Given the description of an element on the screen output the (x, y) to click on. 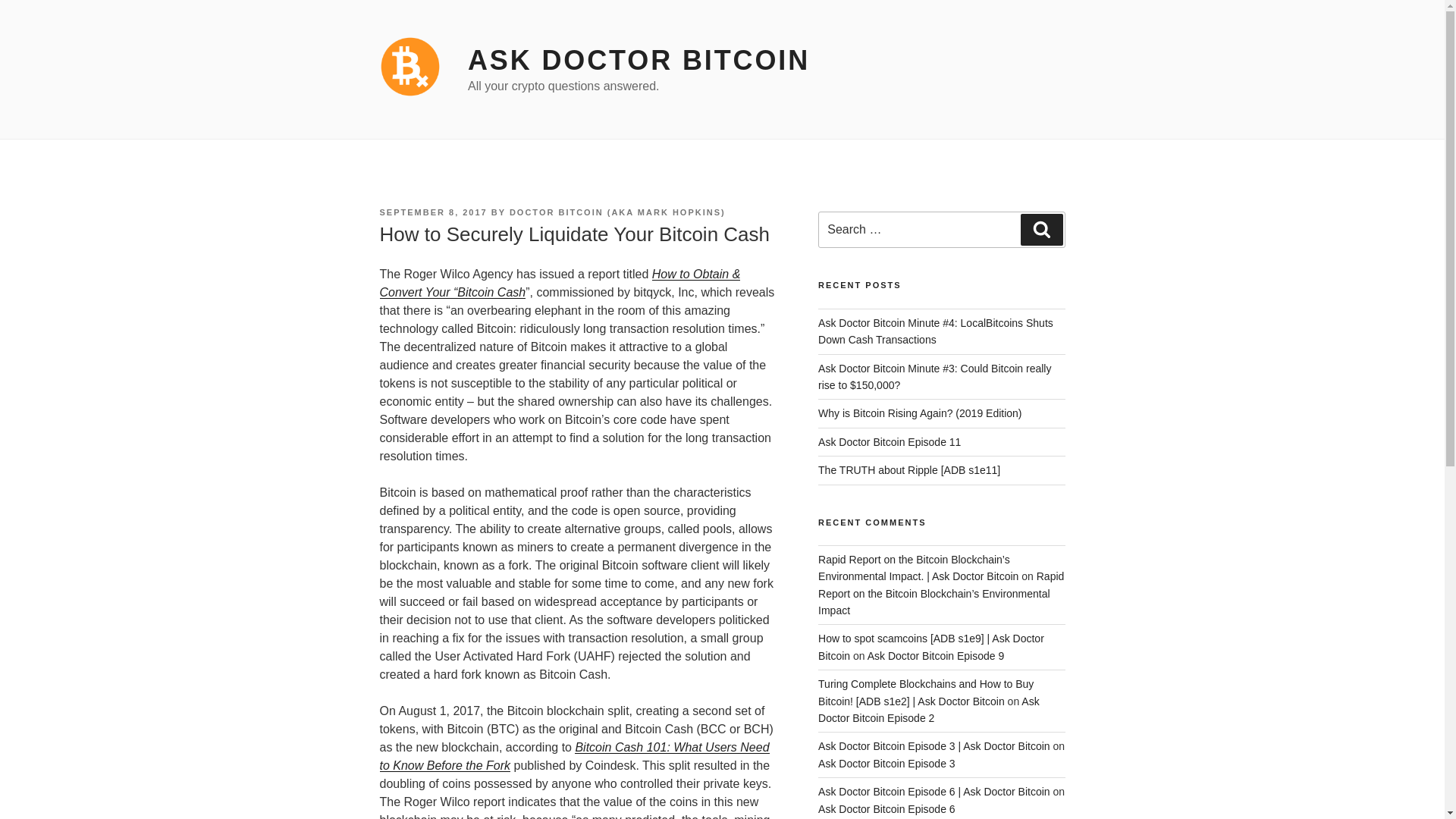
Bitcoin Cash 101: What Users Need to Know Before the Fork (573, 756)
Ask Doctor Bitcoin Episode 11 (889, 441)
Ask Doctor Bitcoin Episode 6 (886, 808)
Ask Doctor Bitcoin Episode 2 (928, 709)
Ask Doctor Bitcoin Episode 9 (935, 655)
Search (1041, 229)
SEPTEMBER 8, 2017 (432, 212)
ASK DOCTOR BITCOIN (638, 60)
Ask Doctor Bitcoin Episode 3 (886, 763)
